Given the description of an element on the screen output the (x, y) to click on. 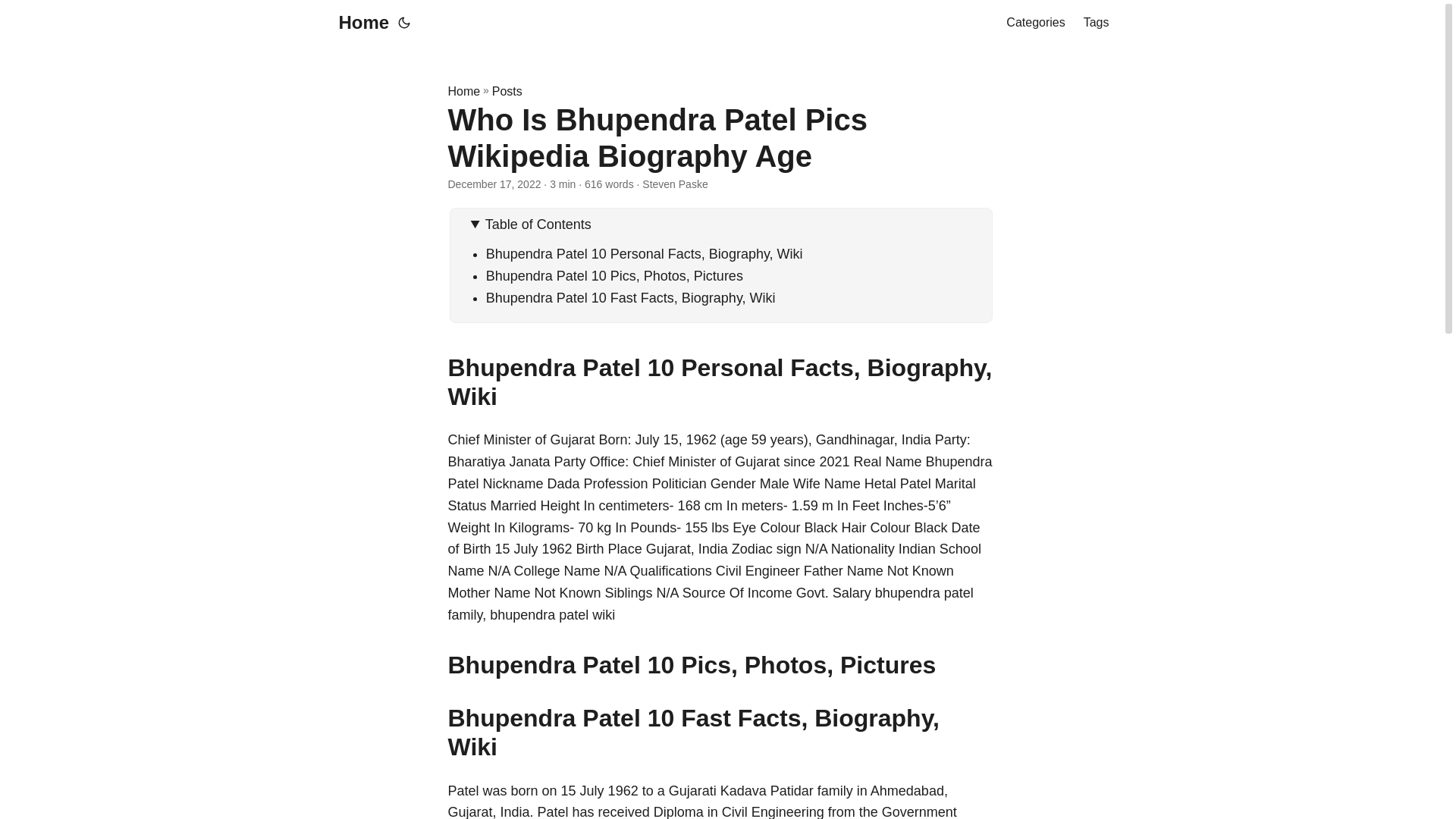
Home (359, 22)
Tags (1096, 22)
Home (463, 91)
Categories (1035, 22)
Categories (1035, 22)
Posts (507, 91)
Bhupendra Patel 10 Personal Facts, Biography, Wiki (644, 253)
Bhupendra Patel 10 Pics, Photos, Pictures (614, 275)
Bhupendra Patel 10 Fast Facts, Biography, Wiki (631, 297)
Tags (1096, 22)
